Given the description of an element on the screen output the (x, y) to click on. 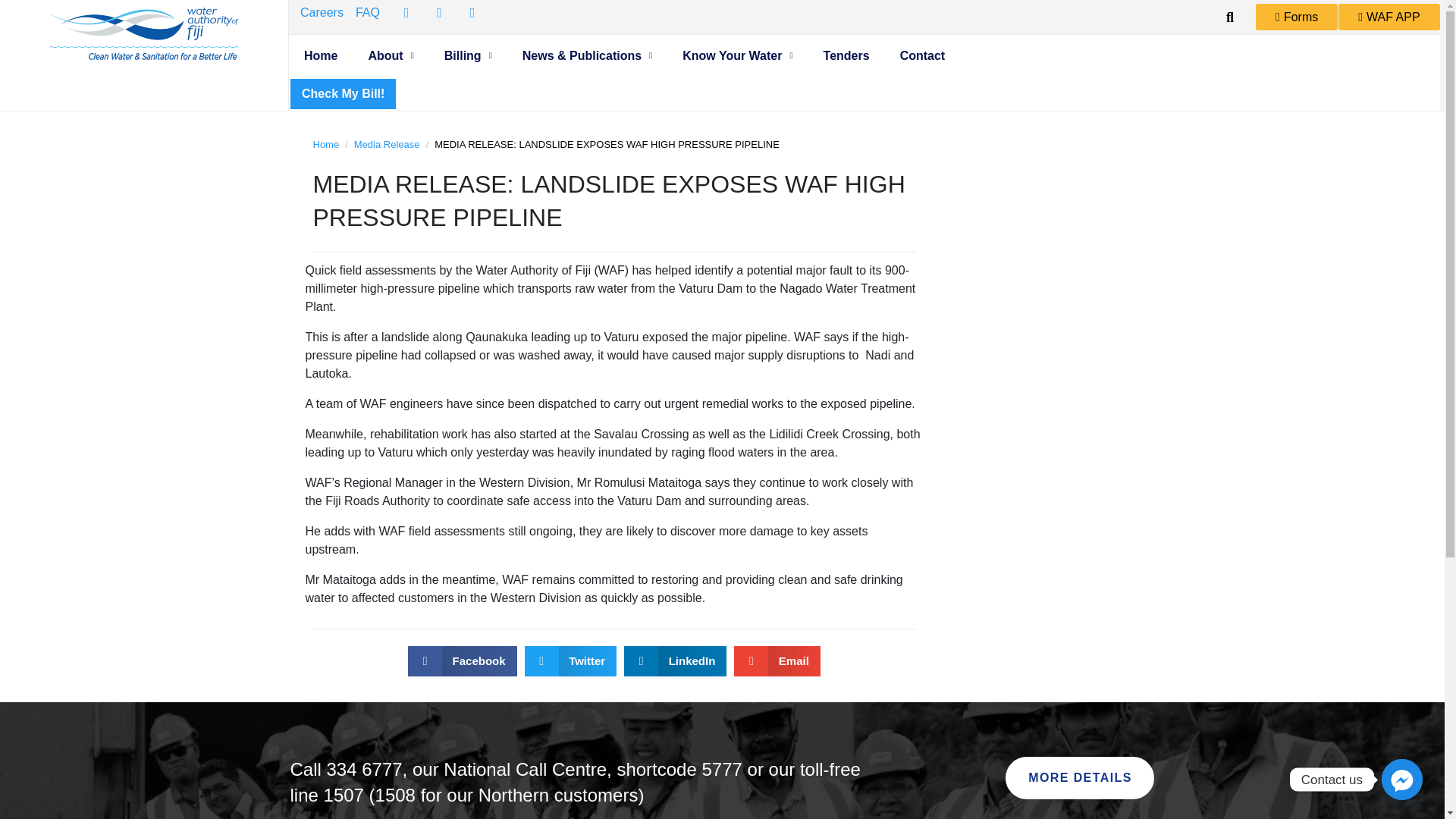
Home (320, 55)
FAQ (367, 13)
About (390, 55)
Careers (321, 13)
Know Your Water (737, 55)
WAF APP (1388, 17)
Billing (467, 55)
Forms (1296, 17)
